Given the description of an element on the screen output the (x, y) to click on. 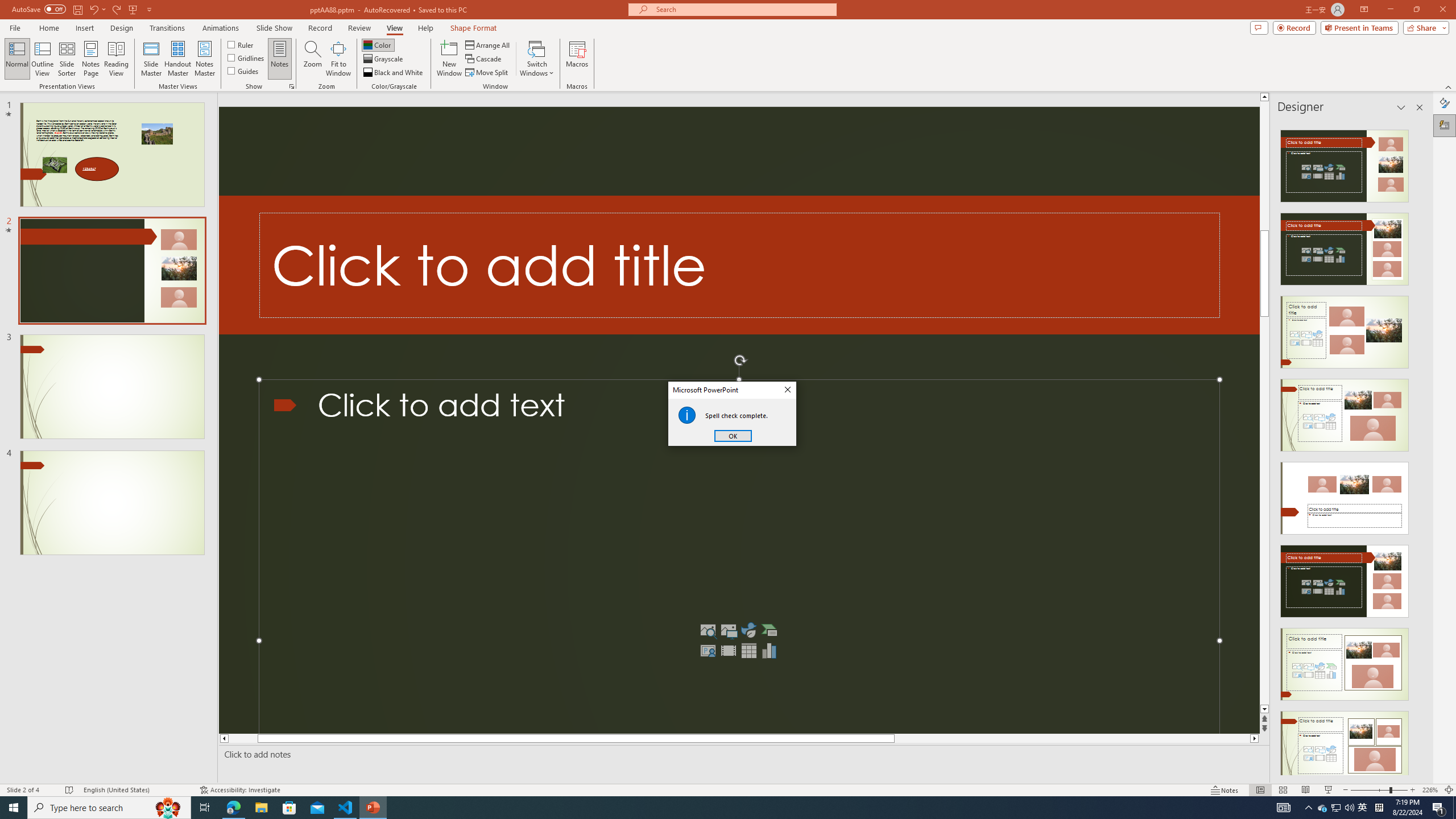
Cascade (484, 58)
Ruler (241, 44)
Color (377, 44)
Insert a SmartArt Graphic (769, 629)
Notes Page (90, 58)
Gridlines (246, 56)
Macros (576, 58)
